Given the description of an element on the screen output the (x, y) to click on. 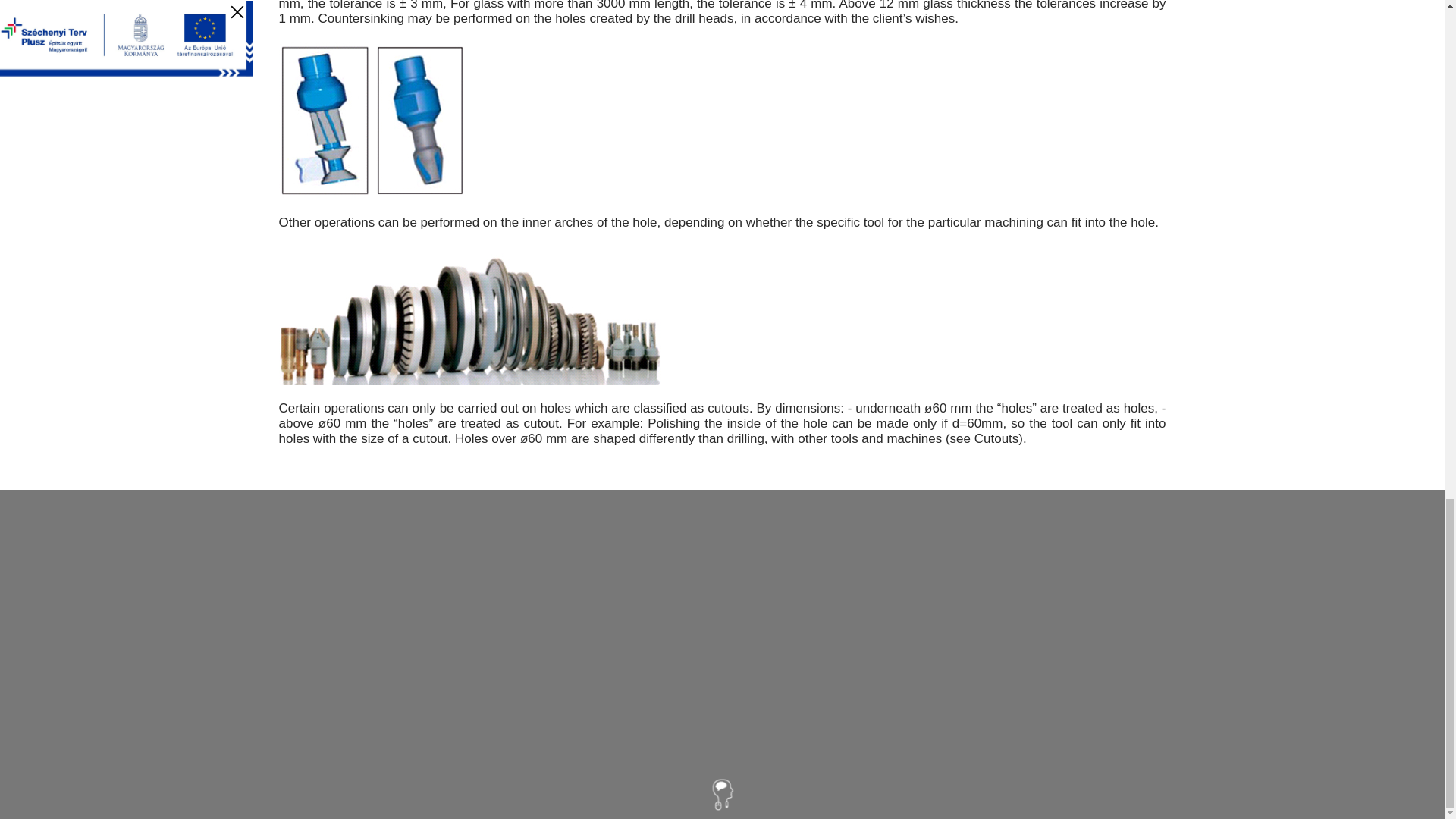
Glass Drilling CE Glass Industries (470, 315)
Glass Drilling CE Glass Industries (372, 120)
